Given the description of an element on the screen output the (x, y) to click on. 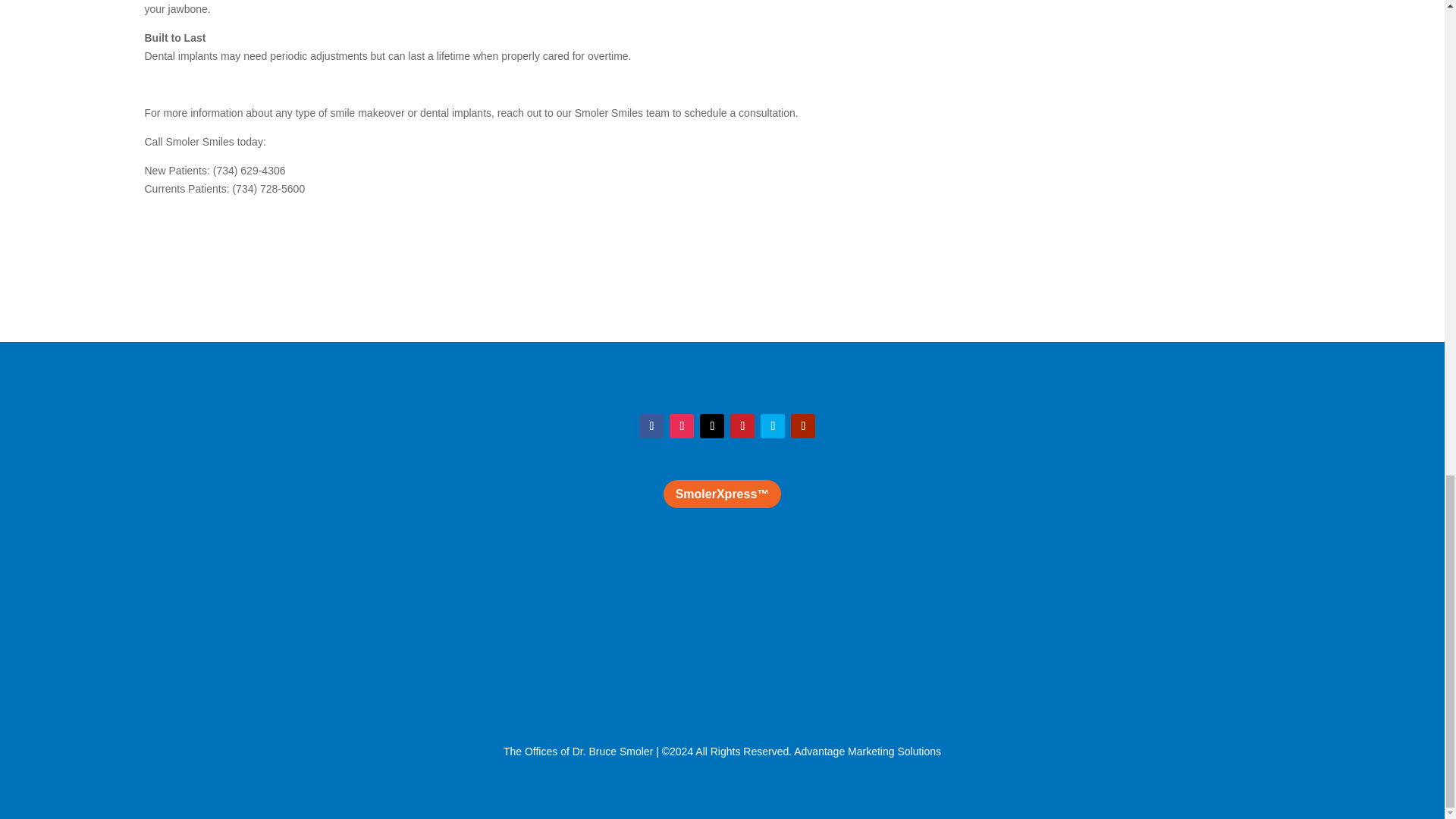
Follow on Youtube (802, 426)
Follow on X (711, 426)
Follow on Pinterest (742, 426)
Follow on Instagram (681, 426)
Follow on Facebook (651, 426)
Follow on LinkedIn (772, 426)
